Given the description of an element on the screen output the (x, y) to click on. 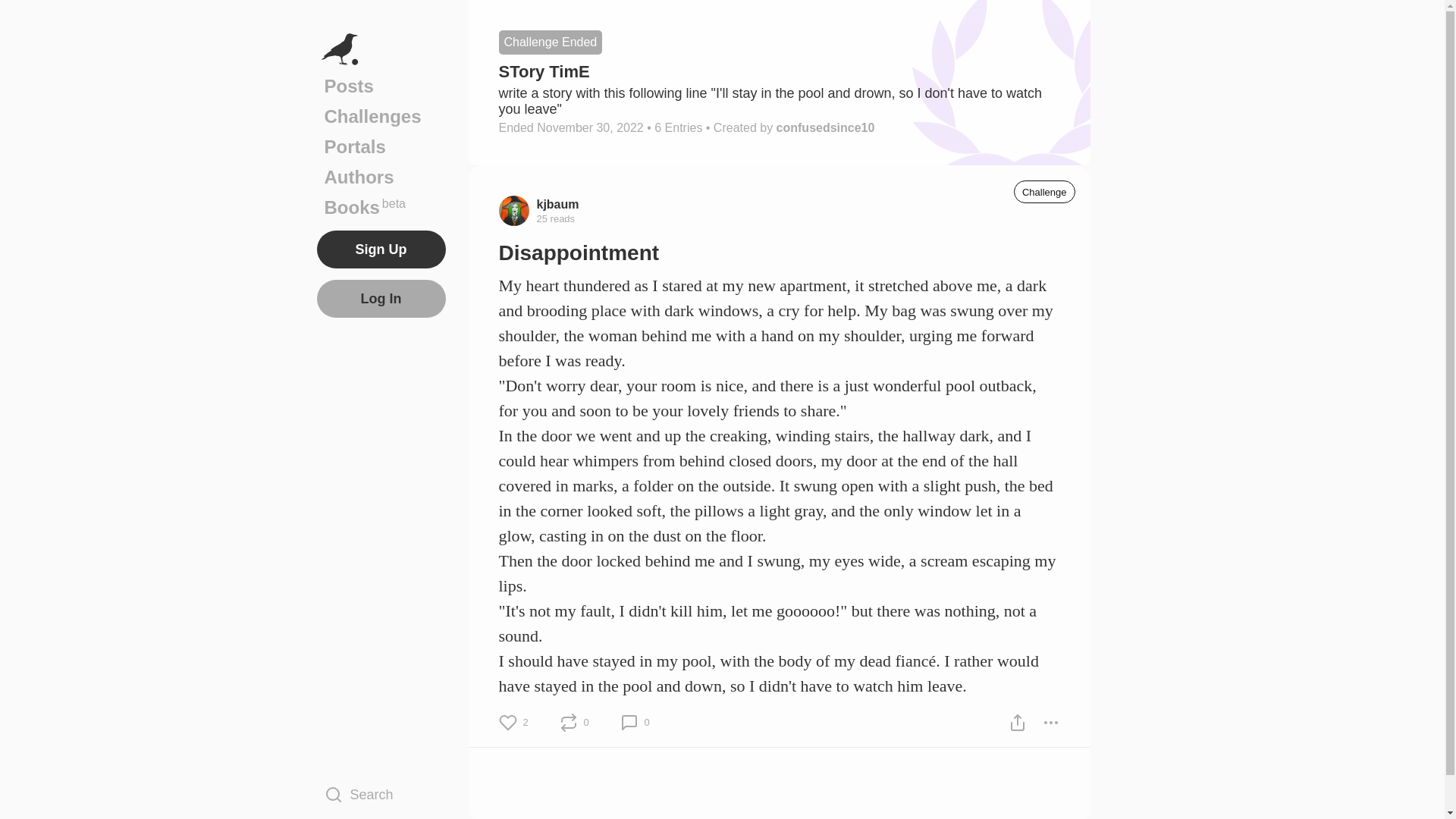
confusedsince10 (825, 127)
Portals (381, 146)
Challenge (1044, 191)
Search (381, 207)
Challenges (381, 794)
Authors (381, 116)
kjbaum (381, 177)
Posts (558, 203)
